Given the description of an element on the screen output the (x, y) to click on. 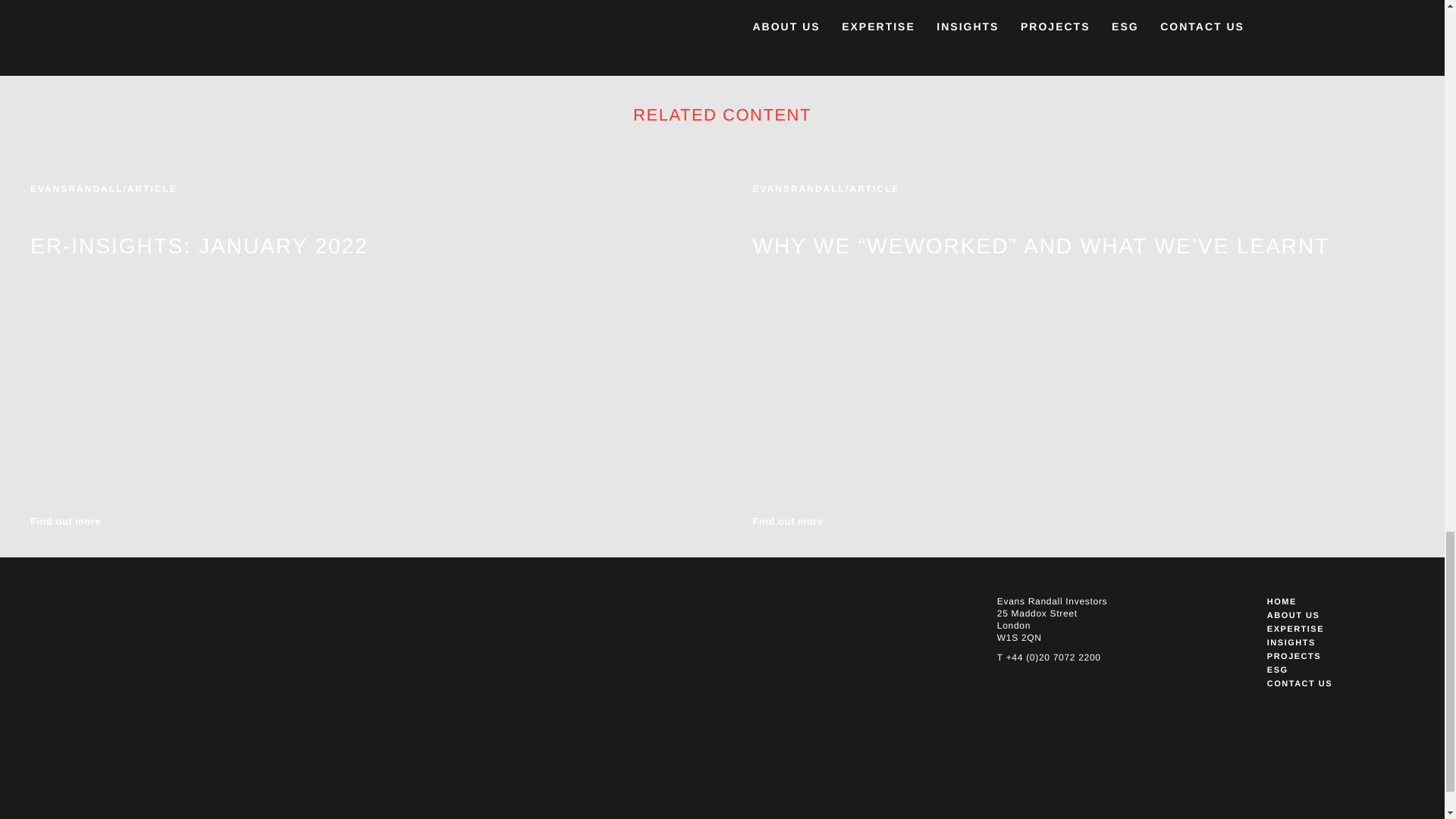
ESG (1332, 670)
EXPERTISE (1332, 629)
PROJECTS (1332, 656)
CONTACT US (1332, 684)
INSIGHTS (1332, 643)
ABOUT US (1332, 615)
HOME (1332, 602)
